Given the description of an element on the screen output the (x, y) to click on. 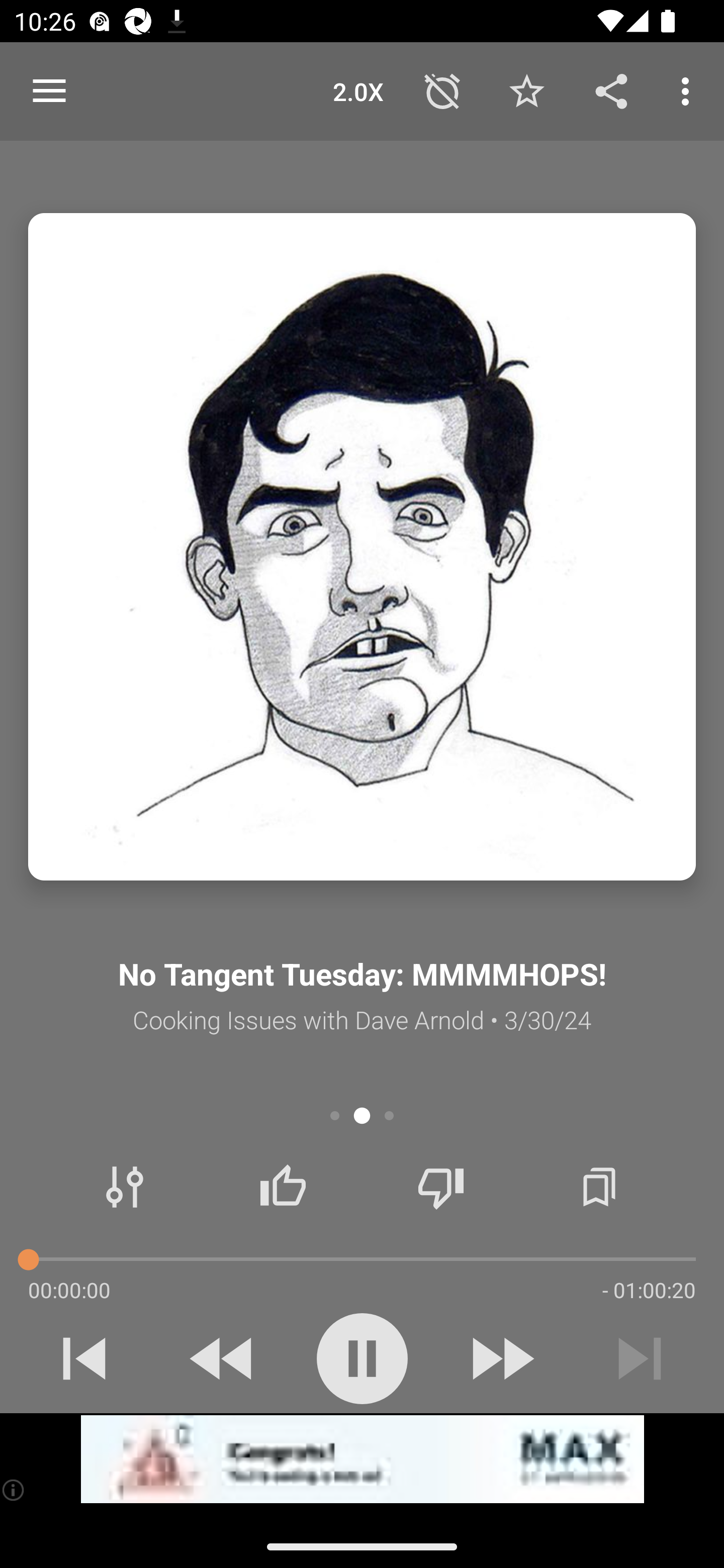
Open navigation sidebar (49, 91)
2.0X (357, 90)
Sleep Timer (442, 90)
Favorite (526, 90)
Share (611, 90)
More options (688, 90)
Episode description (361, 547)
Audio effects (124, 1186)
Thumbs up (283, 1186)
Thumbs down (440, 1186)
Chapters / Bookmarks (598, 1186)
- 01:00:20 (648, 1289)
Previous track (84, 1358)
Skip 15s backward (222, 1358)
Play / Pause (362, 1358)
Skip 30s forward (500, 1358)
Next track (639, 1358)
app-monetization (362, 1459)
(i) (14, 1489)
